Given the description of an element on the screen output the (x, y) to click on. 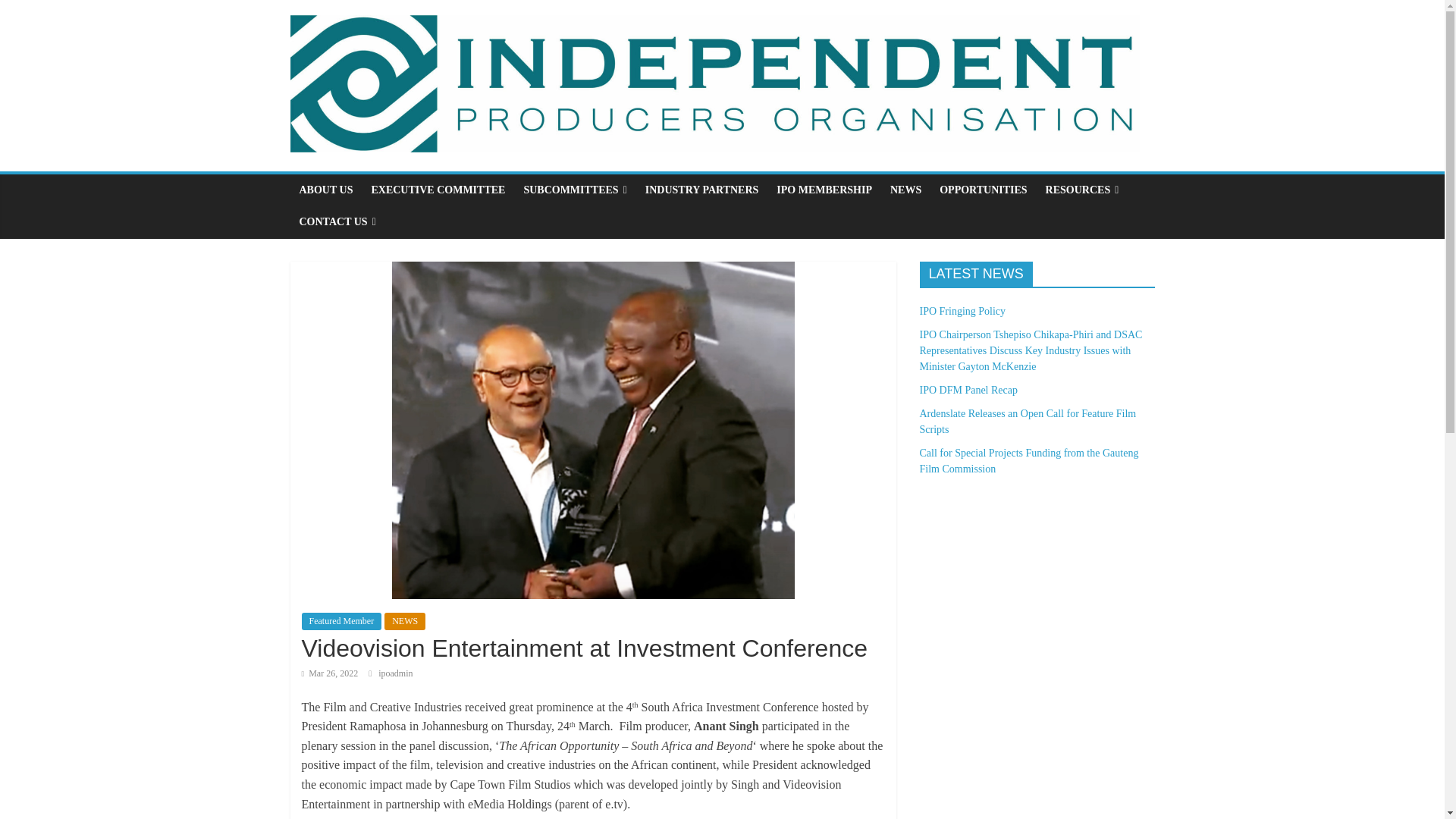
9:16 am (329, 673)
Contact (336, 222)
CONTACT US (336, 222)
IPO Fringing Policy (962, 310)
Resources (1082, 190)
Our team (437, 190)
Mar 26, 2022 (329, 673)
ipoadmin (395, 673)
Opportunities (982, 190)
